Given the description of an element on the screen output the (x, y) to click on. 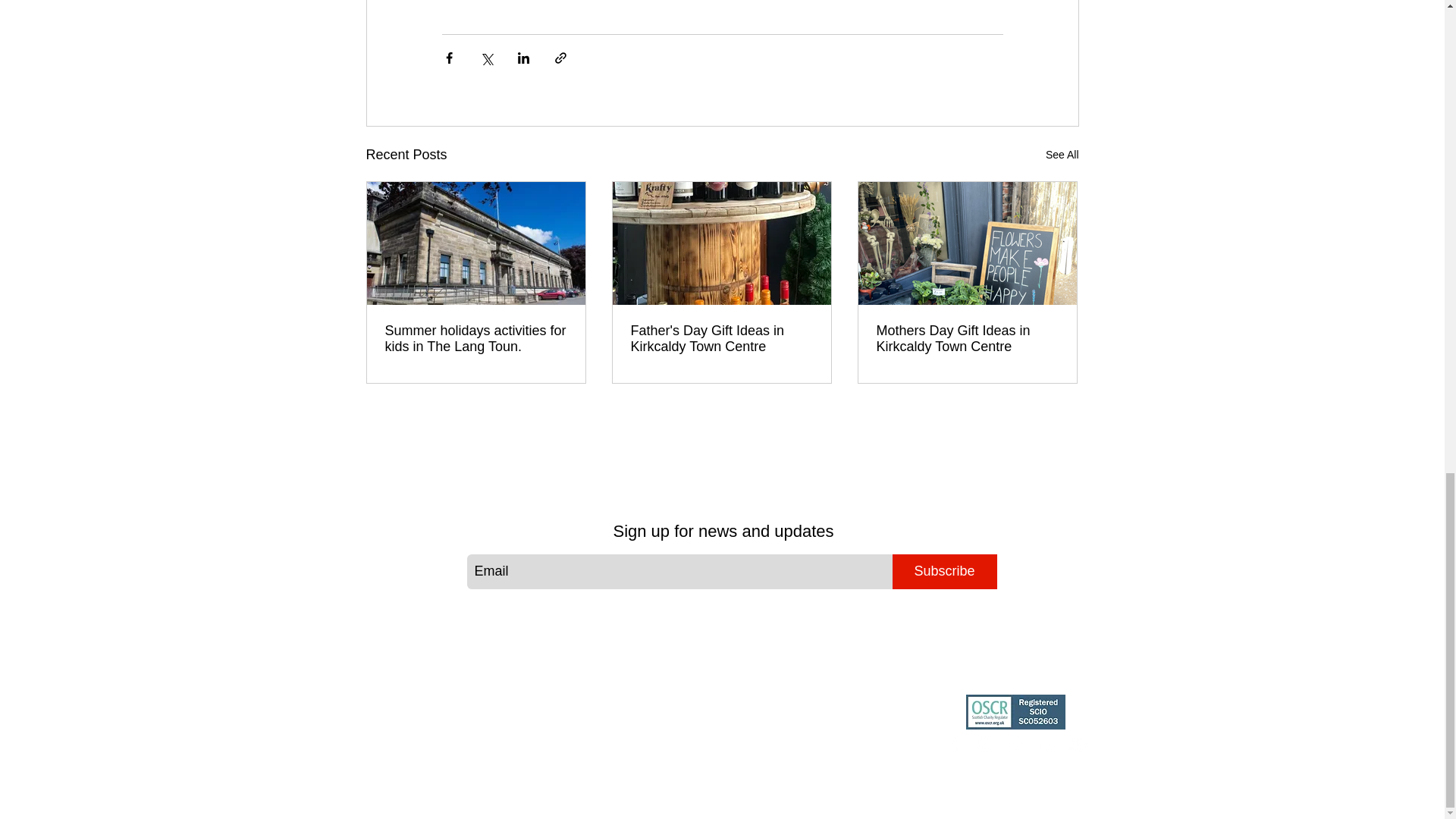
Summer holidays activities for kids in The Lang Toun. (476, 338)
See All (1061, 155)
